Given the description of an element on the screen output the (x, y) to click on. 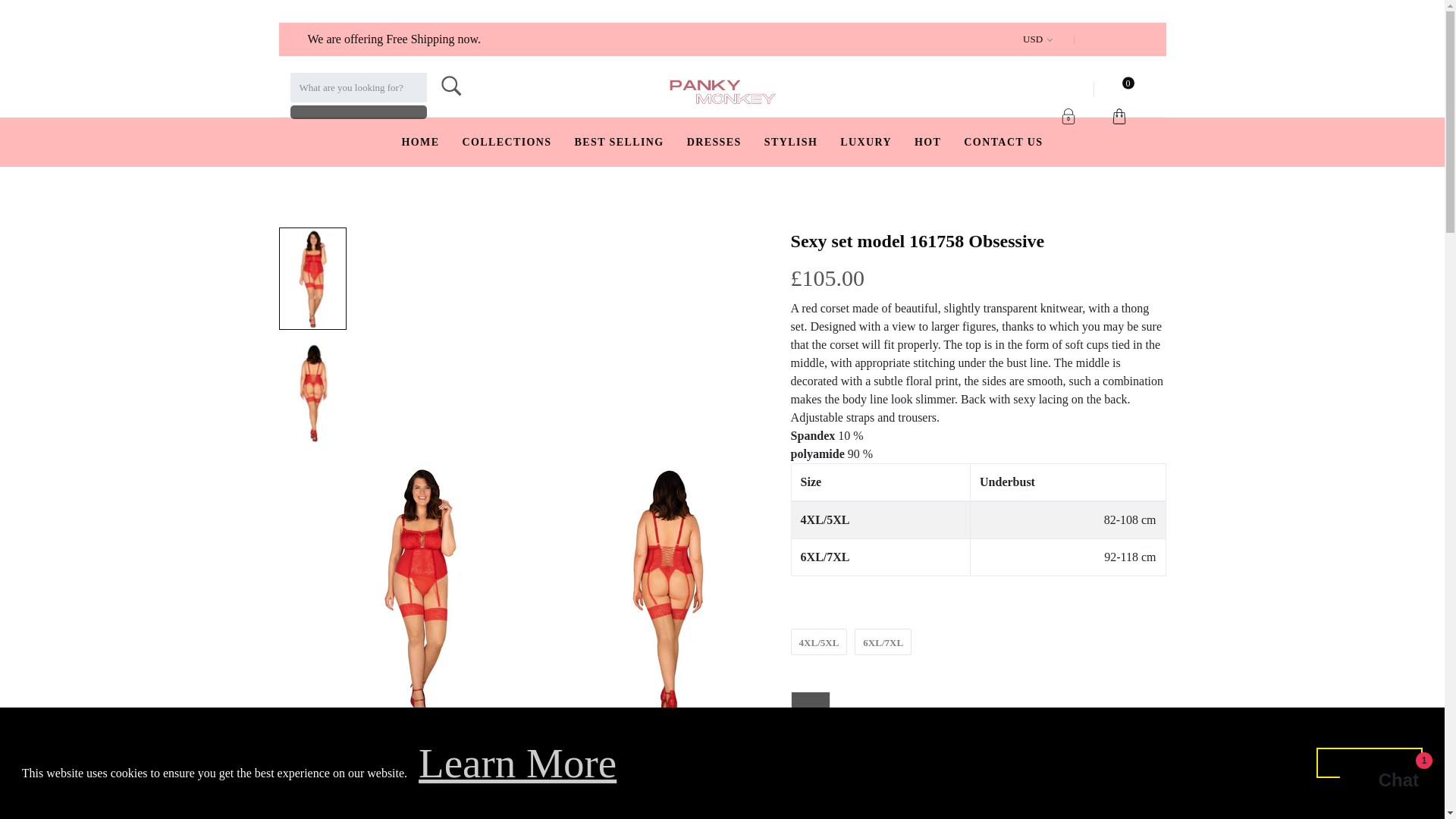
Got it! (1369, 762)
CONTACT US (1002, 142)
Shopify online store chat (1383, 781)
LUXURY (865, 142)
STYLISH (791, 142)
1 (810, 738)
ADD TO CART (908, 738)
GBP (1040, 38)
COLLECTIONS (506, 142)
Panky Monkey  on Facebook (1097, 38)
HOT (927, 142)
Learn More (517, 762)
DRESSES (714, 142)
BEST SELLING (619, 142)
HOME (420, 142)
